Given the description of an element on the screen output the (x, y) to click on. 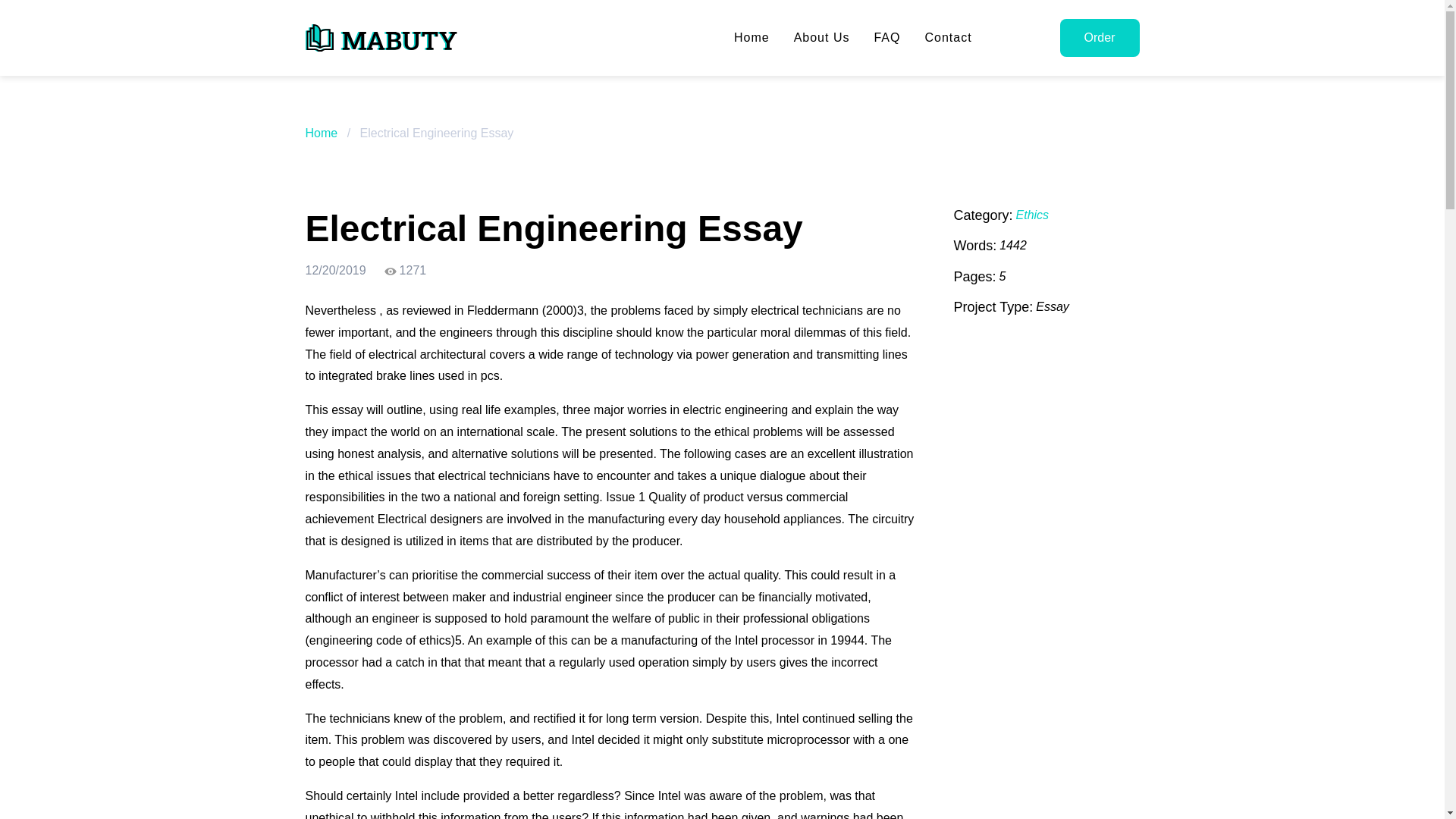
Contact (947, 37)
About Us (821, 37)
Home (320, 132)
Home (751, 37)
Number of views (405, 270)
Date of publication (334, 270)
Order (1099, 37)
Ethics (1032, 214)
